Given the description of an element on the screen output the (x, y) to click on. 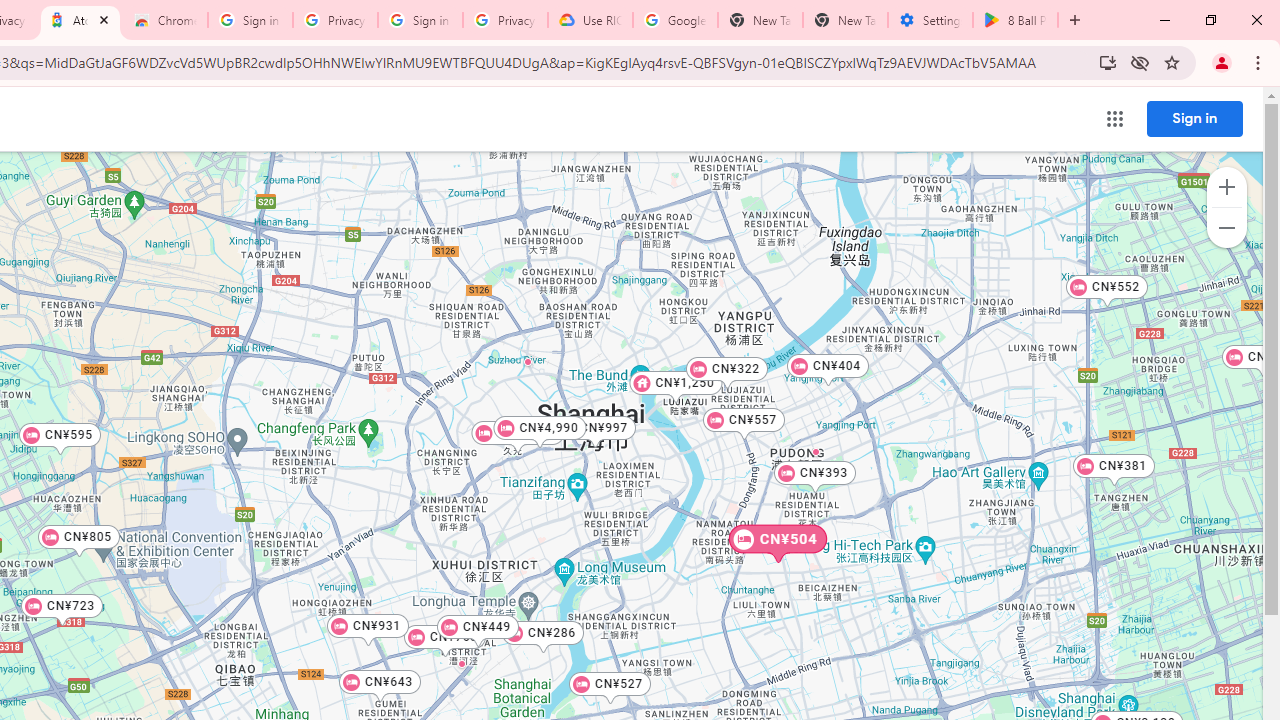
Install Trips all in one place (1107, 62)
Vienna International Hotel (527, 361)
Zoom out map (1226, 227)
New Tab (845, 20)
Sign in - Google Accounts (420, 20)
Z Hotel (612, 421)
